Given the description of an element on the screen output the (x, y) to click on. 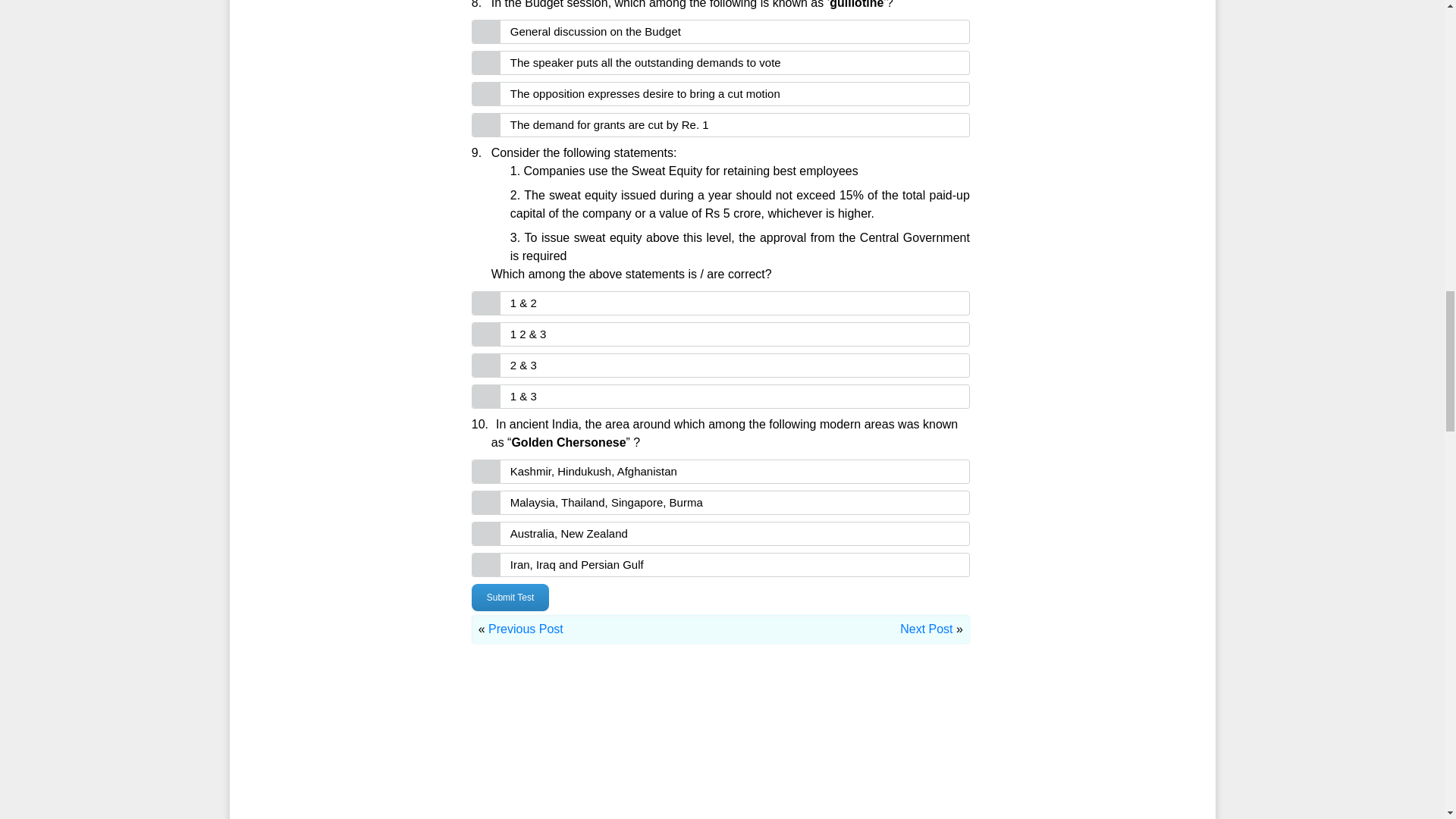
Next Post (925, 628)
Submit Test (509, 596)
Previous Post (525, 628)
